Given the description of an element on the screen output the (x, y) to click on. 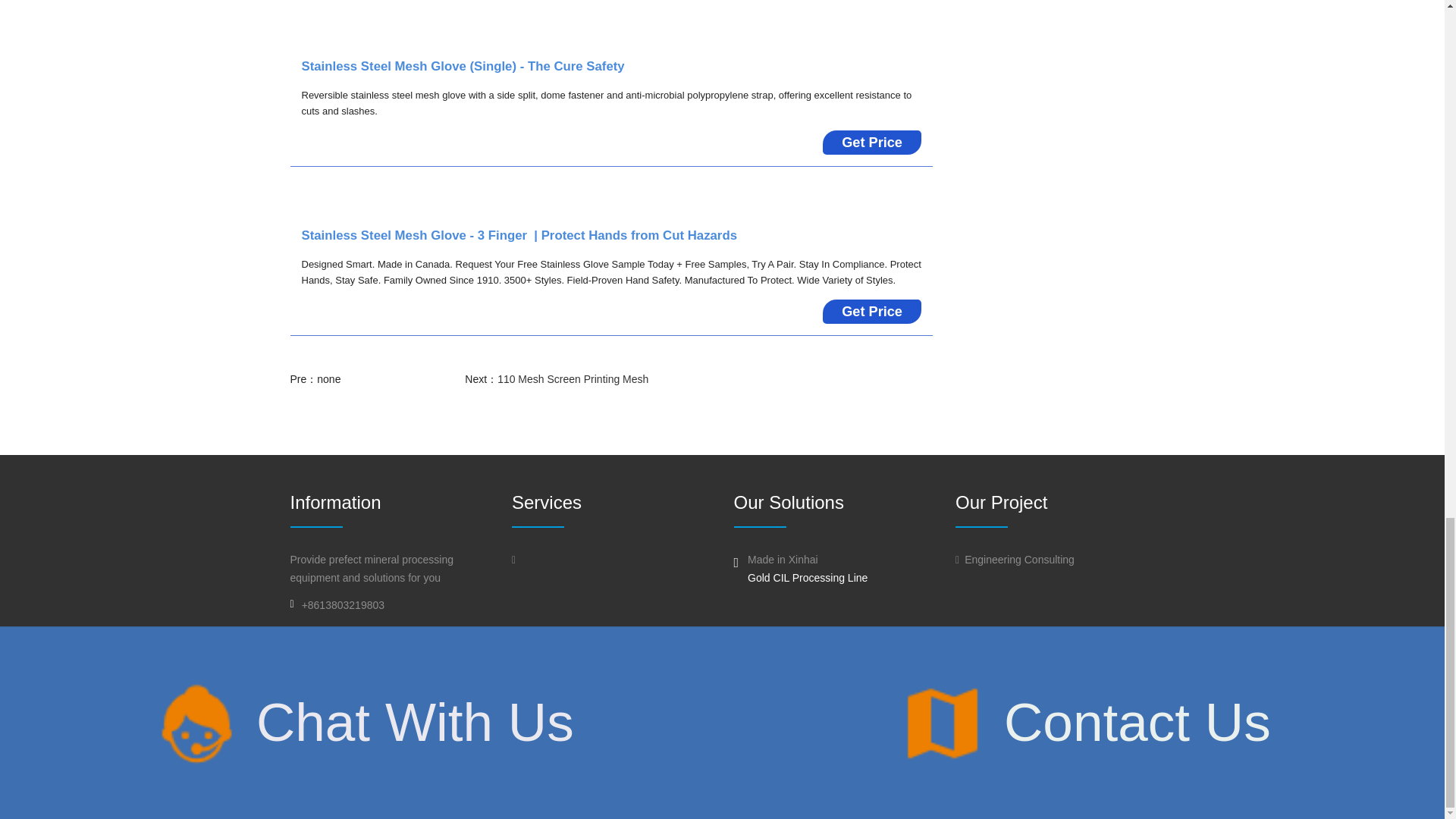
Get Price (871, 311)
110 Mesh Screen Printing Mesh (572, 378)
Get Price (871, 142)
